Given the description of an element on the screen output the (x, y) to click on. 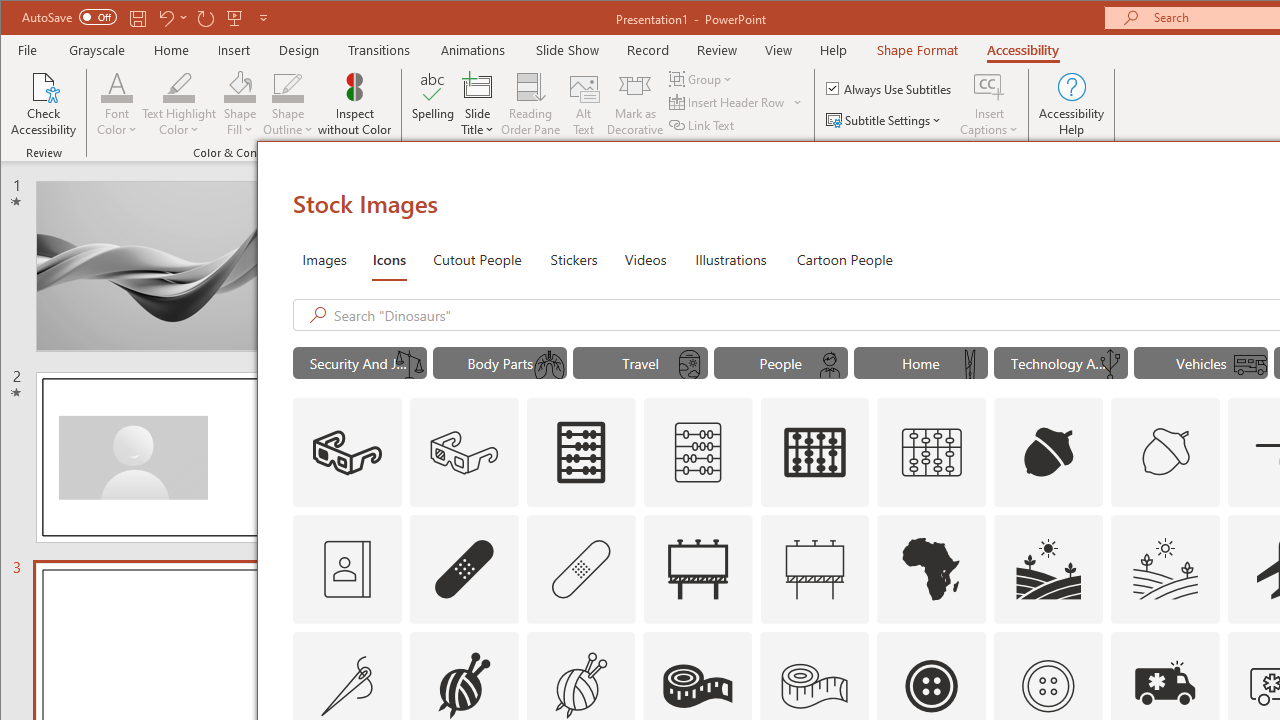
"Technology And Electronics" Icons. (1060, 362)
Spelling... (432, 104)
Slide Title (477, 104)
AutomationID: Icons_SchoolBoy_M (829, 365)
AutomationID: Icons_Abacus_M (697, 452)
Thumbnail (1204, 646)
Stickers (574, 258)
Shape Fill Orange, Accent 2 (239, 86)
